Given the description of an element on the screen output the (x, y) to click on. 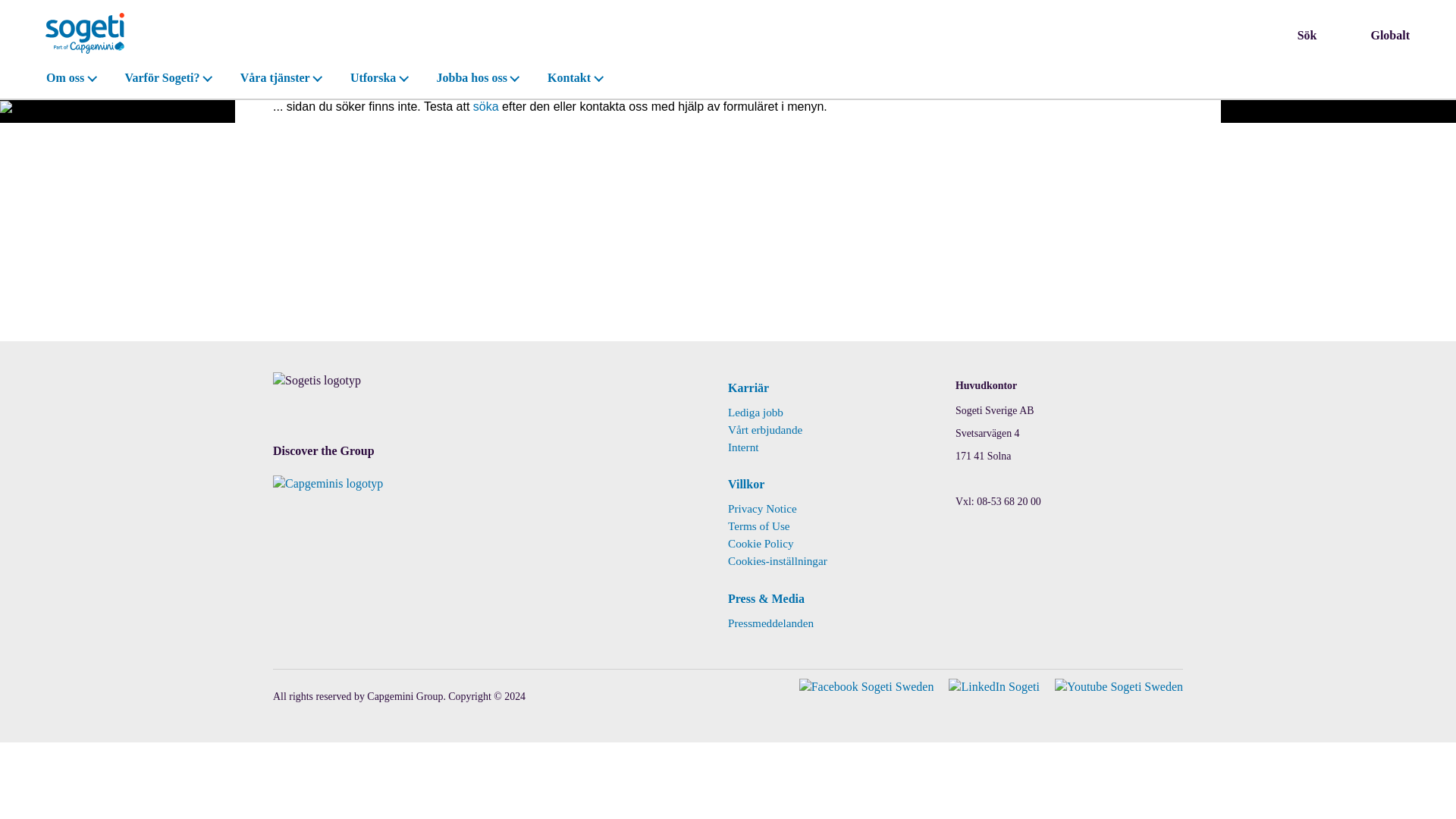
Capgemini (327, 481)
Till meny (4, 4)
